Given the description of an element on the screen output the (x, y) to click on. 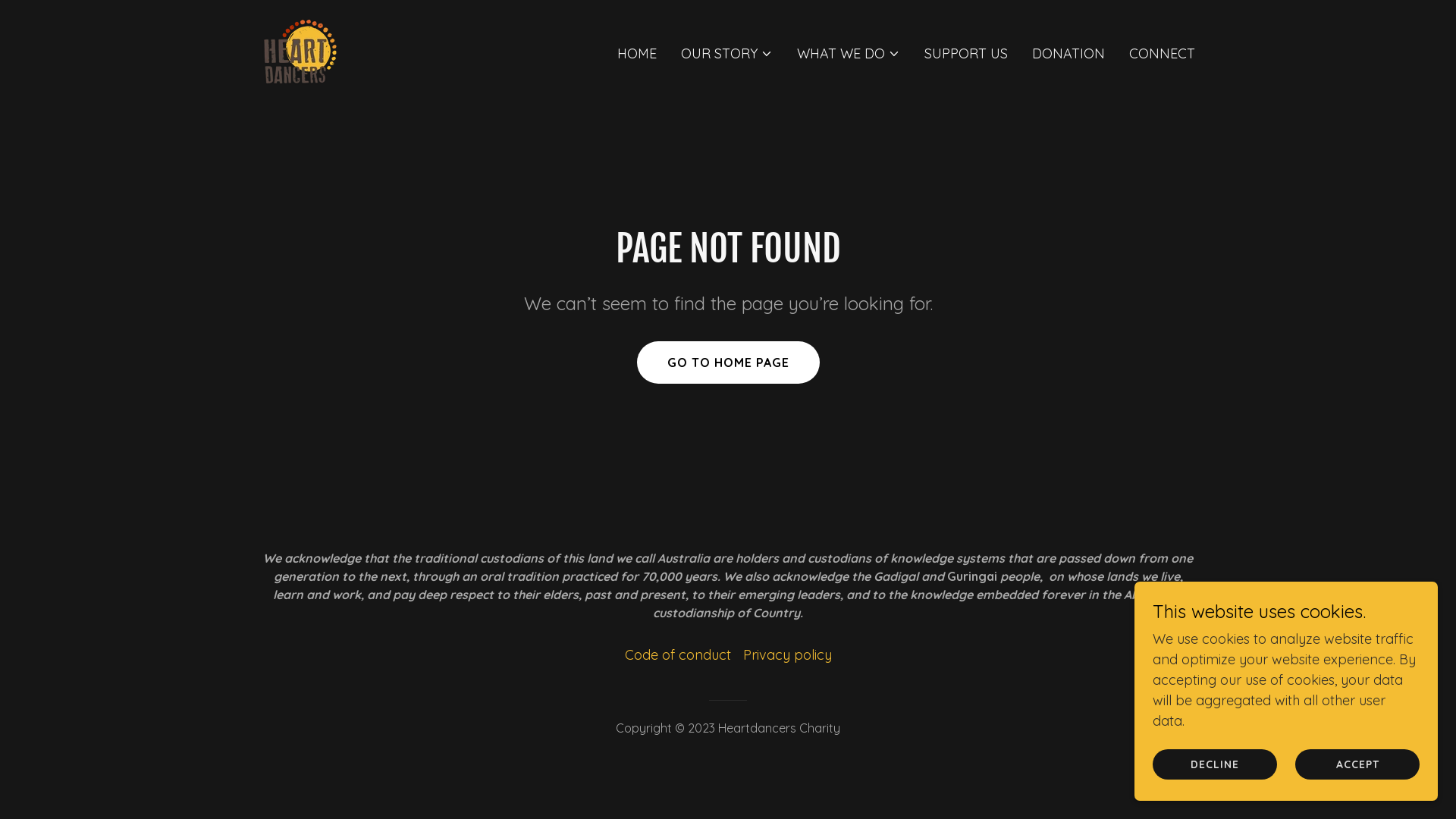
WHAT WE DO Element type: text (848, 52)
OUR STORY Element type: text (726, 52)
DECLINE Element type: text (1214, 764)
Heartdancers Charity Element type: hover (299, 50)
HOME Element type: text (636, 52)
ACCEPT Element type: text (1357, 764)
Code of conduct Element type: text (677, 654)
GO TO HOME PAGE Element type: text (728, 362)
SUPPORT US Element type: text (965, 52)
Privacy policy Element type: text (787, 654)
CONNECT Element type: text (1161, 52)
DONATION Element type: text (1068, 52)
